Given the description of an element on the screen output the (x, y) to click on. 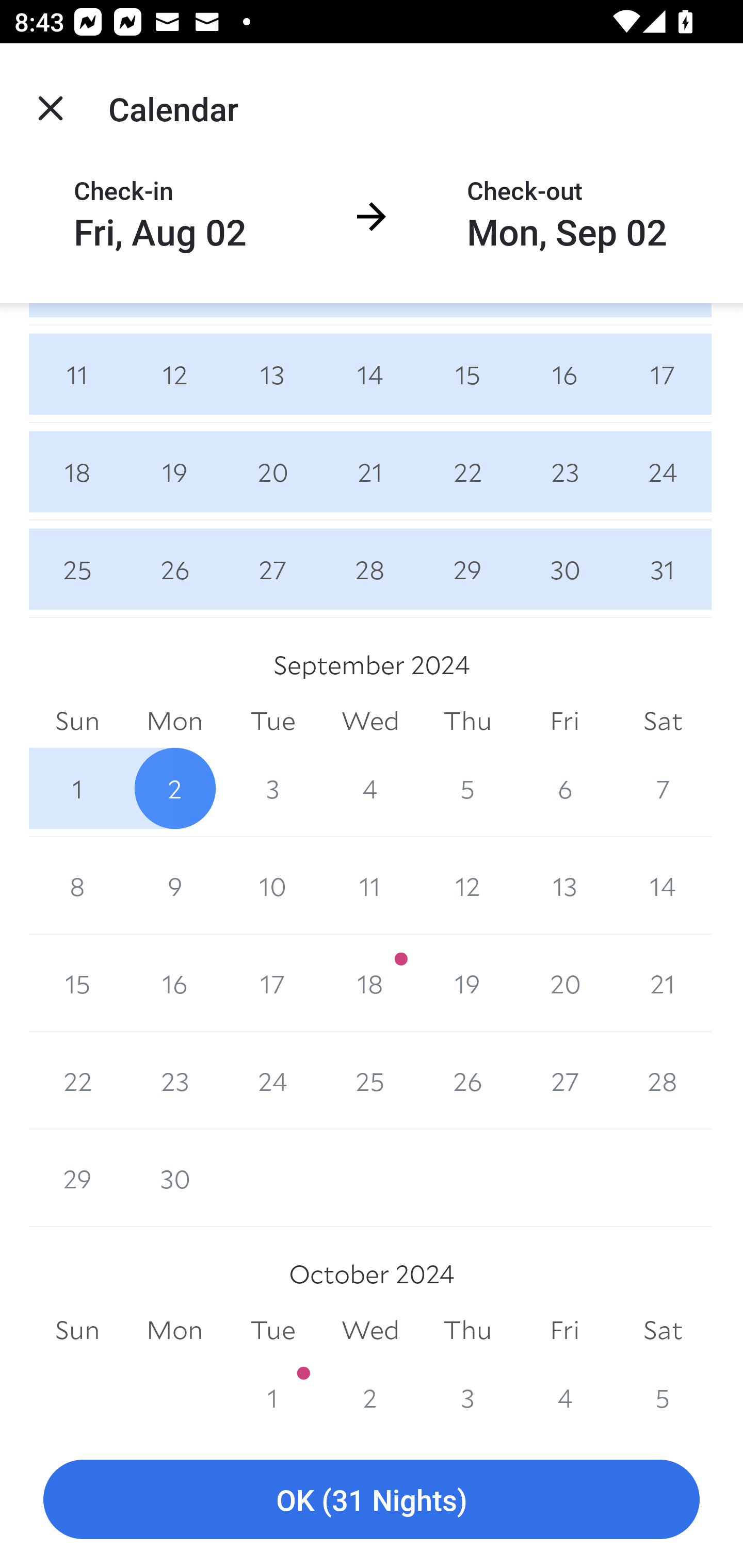
11 11 August 2024 (77, 374)
12 12 August 2024 (174, 374)
13 13 August 2024 (272, 374)
14 14 August 2024 (370, 374)
15 15 August 2024 (467, 374)
16 16 August 2024 (564, 374)
17 17 August 2024 (662, 374)
18 18 August 2024 (77, 471)
19 19 August 2024 (174, 471)
20 20 August 2024 (272, 471)
21 21 August 2024 (370, 471)
22 22 August 2024 (467, 471)
23 23 August 2024 (564, 471)
24 24 August 2024 (662, 471)
25 25 August 2024 (77, 568)
26 26 August 2024 (174, 568)
27 27 August 2024 (272, 568)
28 28 August 2024 (370, 568)
29 29 August 2024 (467, 568)
30 30 August 2024 (564, 568)
31 31 August 2024 (662, 568)
Sun (77, 721)
Mon (174, 721)
Tue (272, 721)
Wed (370, 721)
Thu (467, 721)
Fri (564, 721)
Sat (662, 721)
1 1 September 2024 (77, 788)
2 2 September 2024 (174, 788)
3 3 September 2024 (272, 788)
4 4 September 2024 (370, 788)
5 5 September 2024 (467, 788)
6 6 September 2024 (564, 788)
7 7 September 2024 (662, 788)
8 8 September 2024 (77, 885)
9 9 September 2024 (174, 885)
10 10 September 2024 (272, 885)
11 11 September 2024 (370, 885)
12 12 September 2024 (467, 885)
13 13 September 2024 (564, 885)
14 14 September 2024 (662, 885)
15 15 September 2024 (77, 982)
16 16 September 2024 (174, 982)
17 17 September 2024 (272, 982)
18 18 September 2024 (370, 982)
19 19 September 2024 (467, 982)
20 20 September 2024 (564, 982)
21 21 September 2024 (662, 982)
22 22 September 2024 (77, 1079)
23 23 September 2024 (174, 1079)
24 24 September 2024 (272, 1079)
25 25 September 2024 (370, 1079)
26 26 September 2024 (467, 1079)
27 27 September 2024 (564, 1079)
28 28 September 2024 (662, 1079)
29 29 September 2024 (77, 1177)
30 30 September 2024 (174, 1177)
Sun (77, 1330)
Mon (174, 1330)
Tue (272, 1330)
Wed (370, 1330)
Thu (467, 1330)
Fri (564, 1330)
Sat (662, 1330)
1 1 October 2024 (272, 1389)
2 2 October 2024 (370, 1389)
3 3 October 2024 (467, 1389)
4 4 October 2024 (564, 1389)
5 5 October 2024 (662, 1389)
OK (31 Nights) (371, 1499)
